Given the description of an element on the screen output the (x, y) to click on. 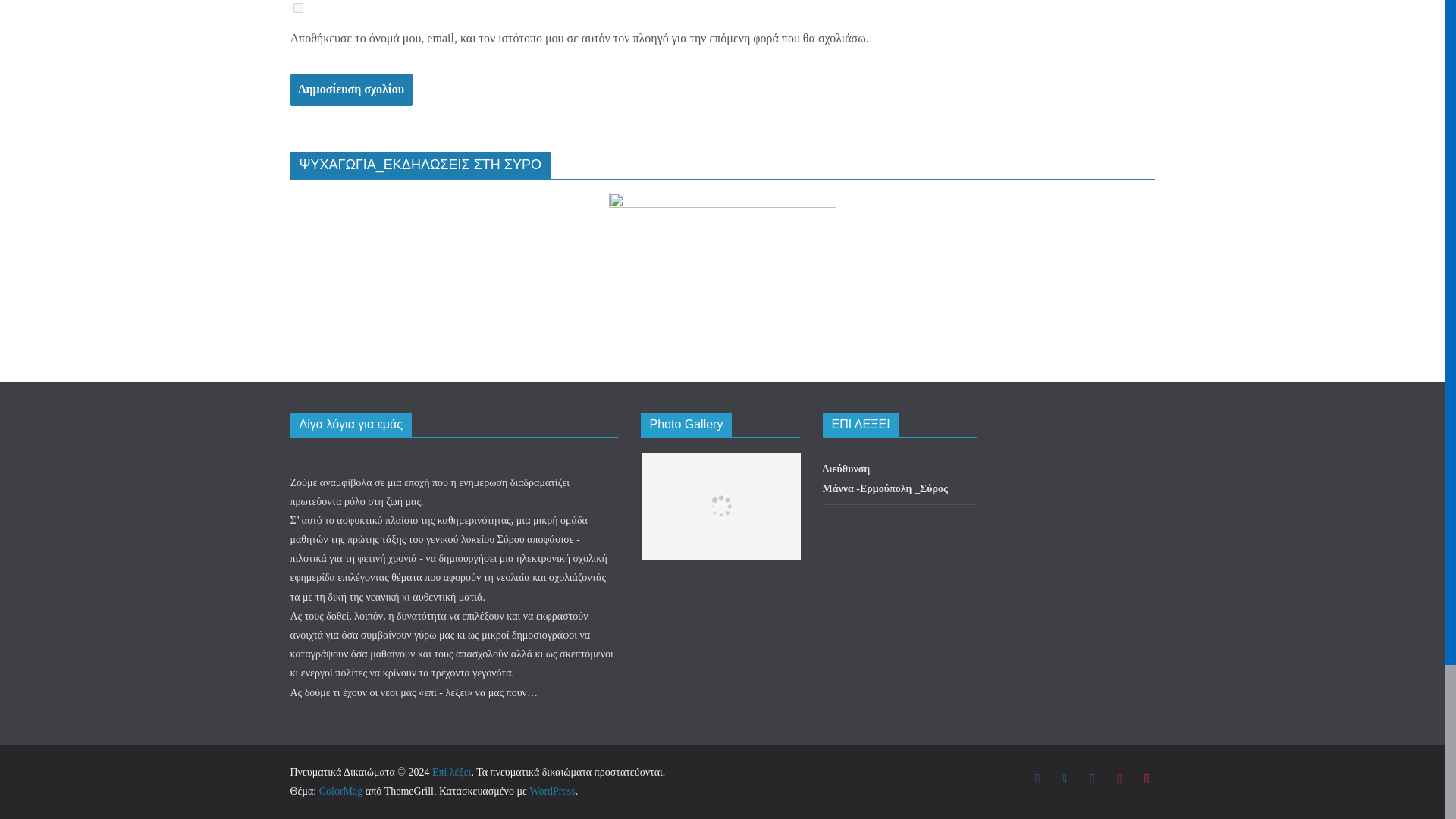
yes (297, 8)
